Given the description of an element on the screen output the (x, y) to click on. 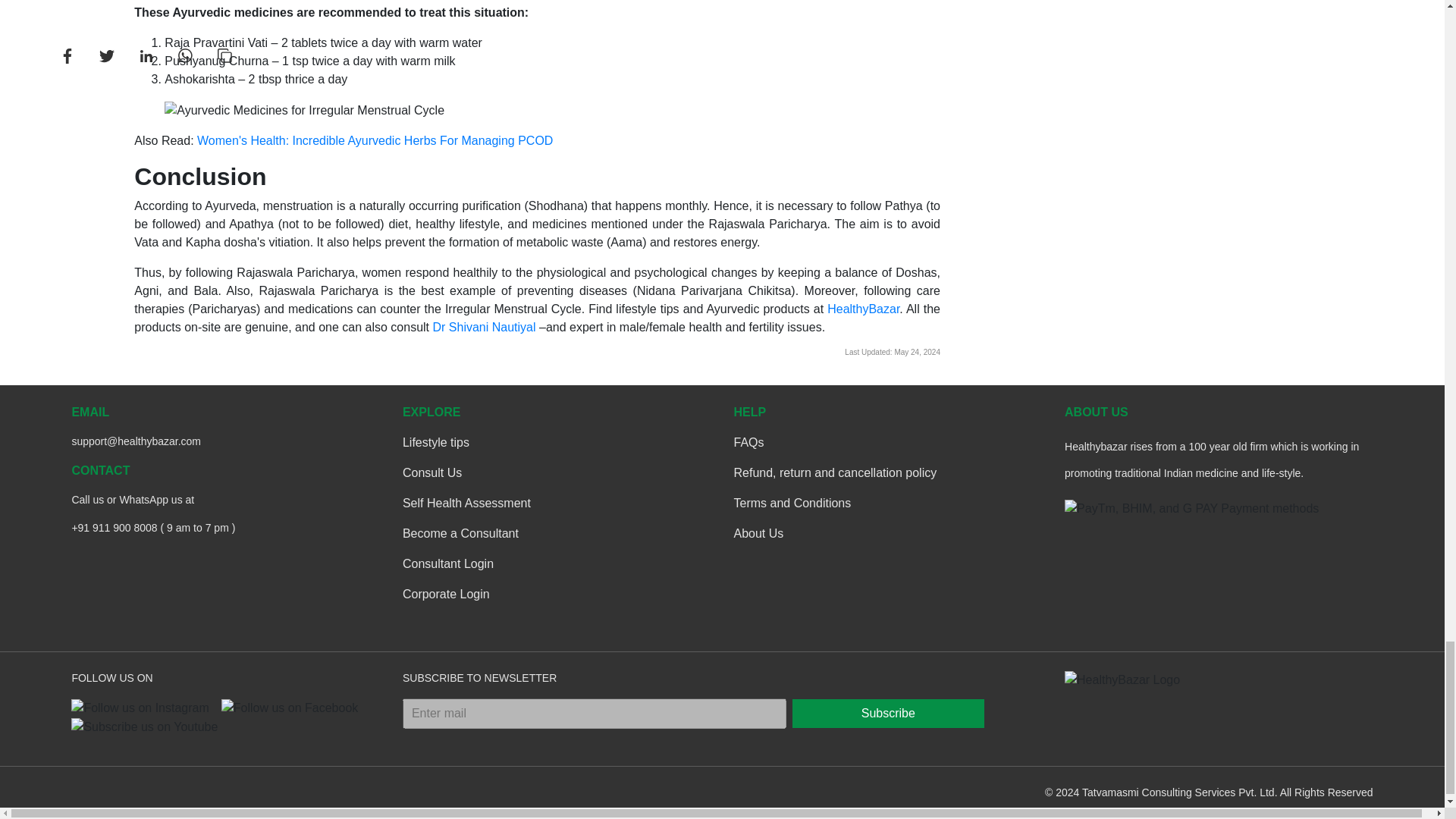
Dr Shivani Nautiyal (483, 327)
Lifestyle tips (435, 443)
Women's Health: Incredible Ayurvedic Herbs For Managing PCOD (374, 140)
Become a Consultant (460, 533)
FAQs (748, 443)
Consultant Login (448, 564)
HealthyBazar (863, 308)
About Us (758, 533)
Self Health Assessment (467, 503)
Subscribe (888, 713)
Subscribe (888, 713)
Terms and Conditions (792, 503)
Consult Us (432, 473)
Corporate Login (446, 594)
Refund, return and cancellation policy (835, 473)
